Given the description of an element on the screen output the (x, y) to click on. 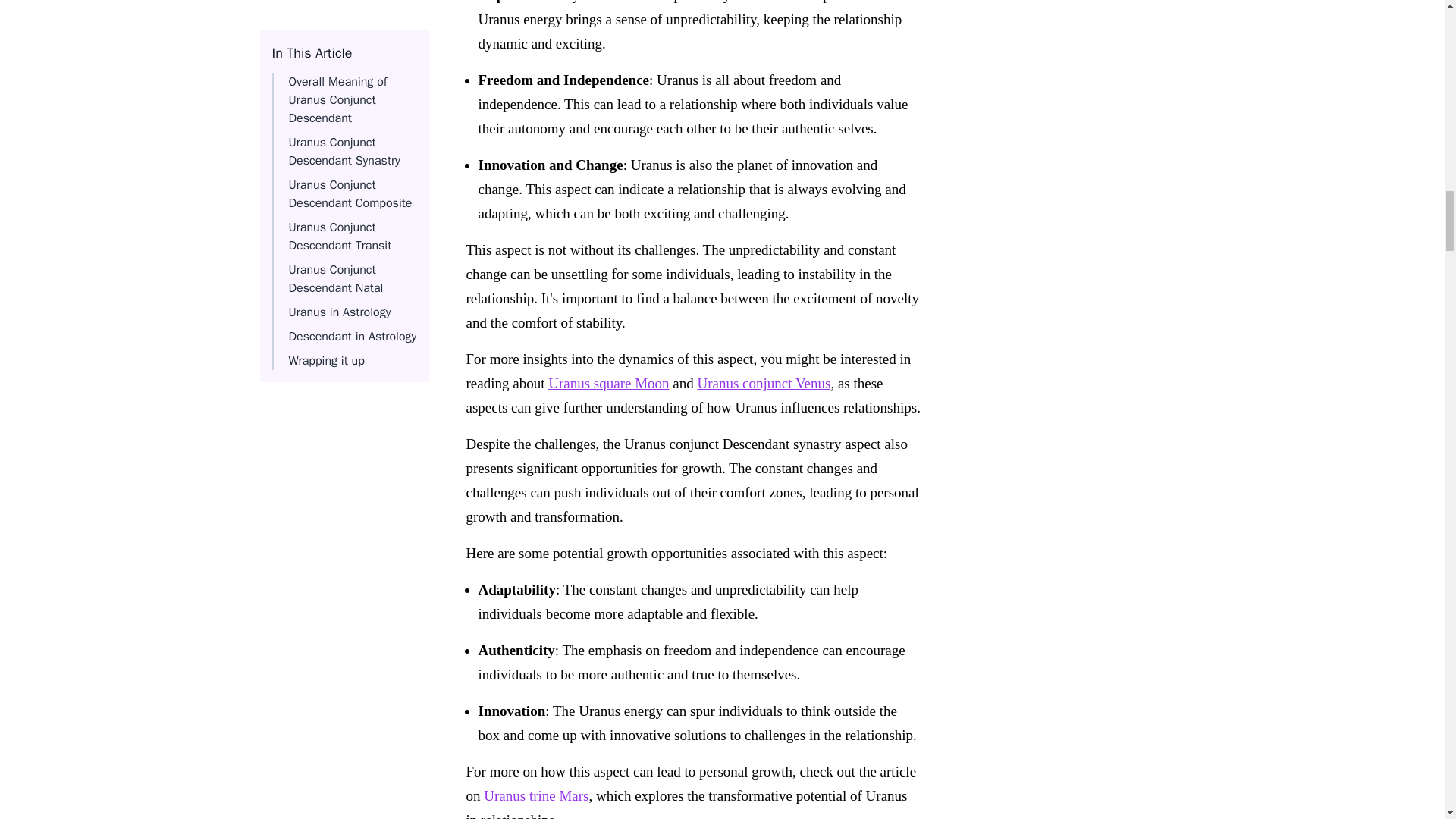
Uranus conjunct Venus (763, 383)
Uranus square Moon (608, 383)
Uranus trine Mars (535, 795)
